Given the description of an element on the screen output the (x, y) to click on. 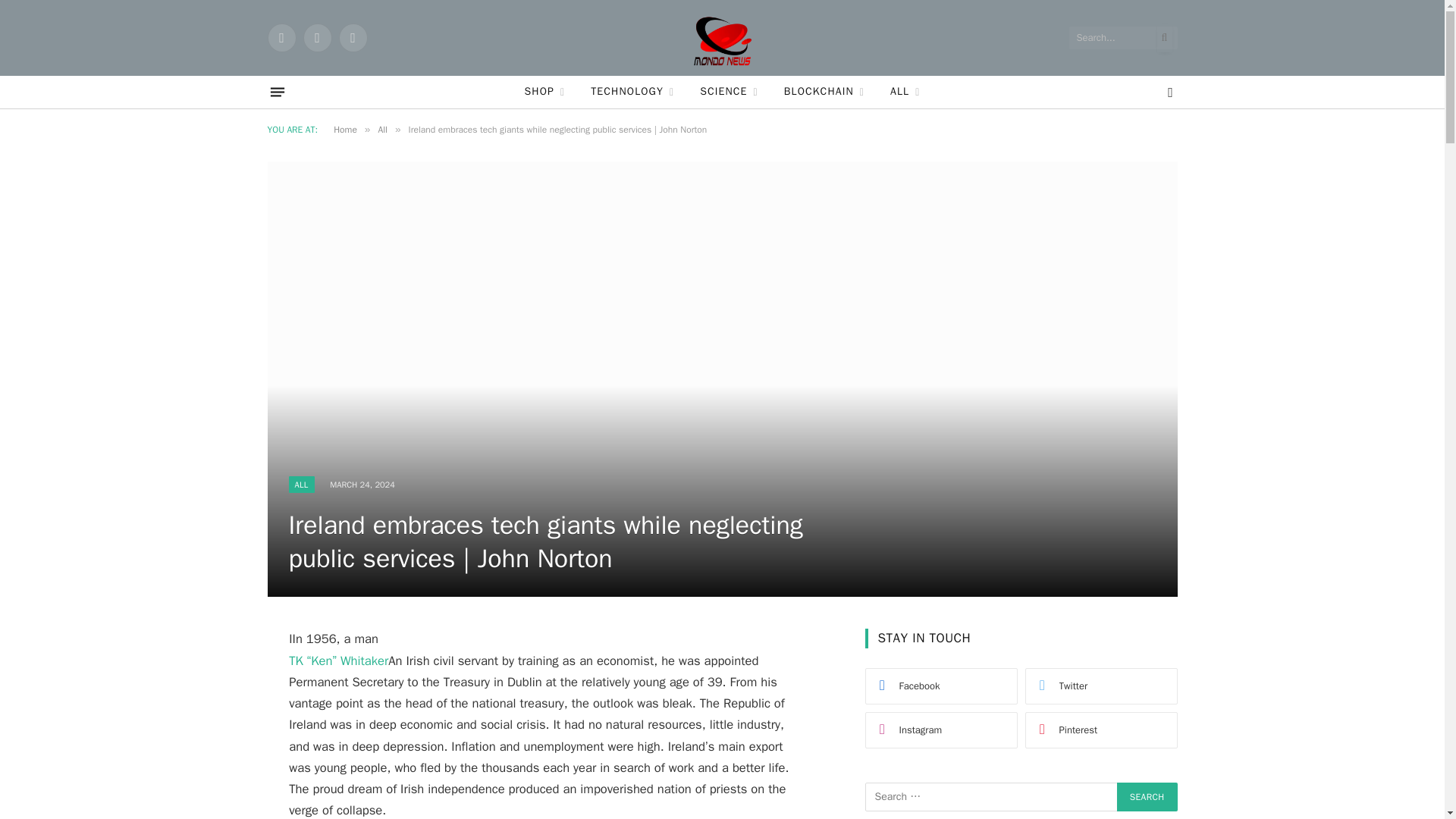
SHOP (545, 92)
Instagram (351, 37)
Facebook (280, 37)
TECHNOLOGY (632, 92)
Search (1146, 796)
Search (1146, 796)
